Given the description of an element on the screen output the (x, y) to click on. 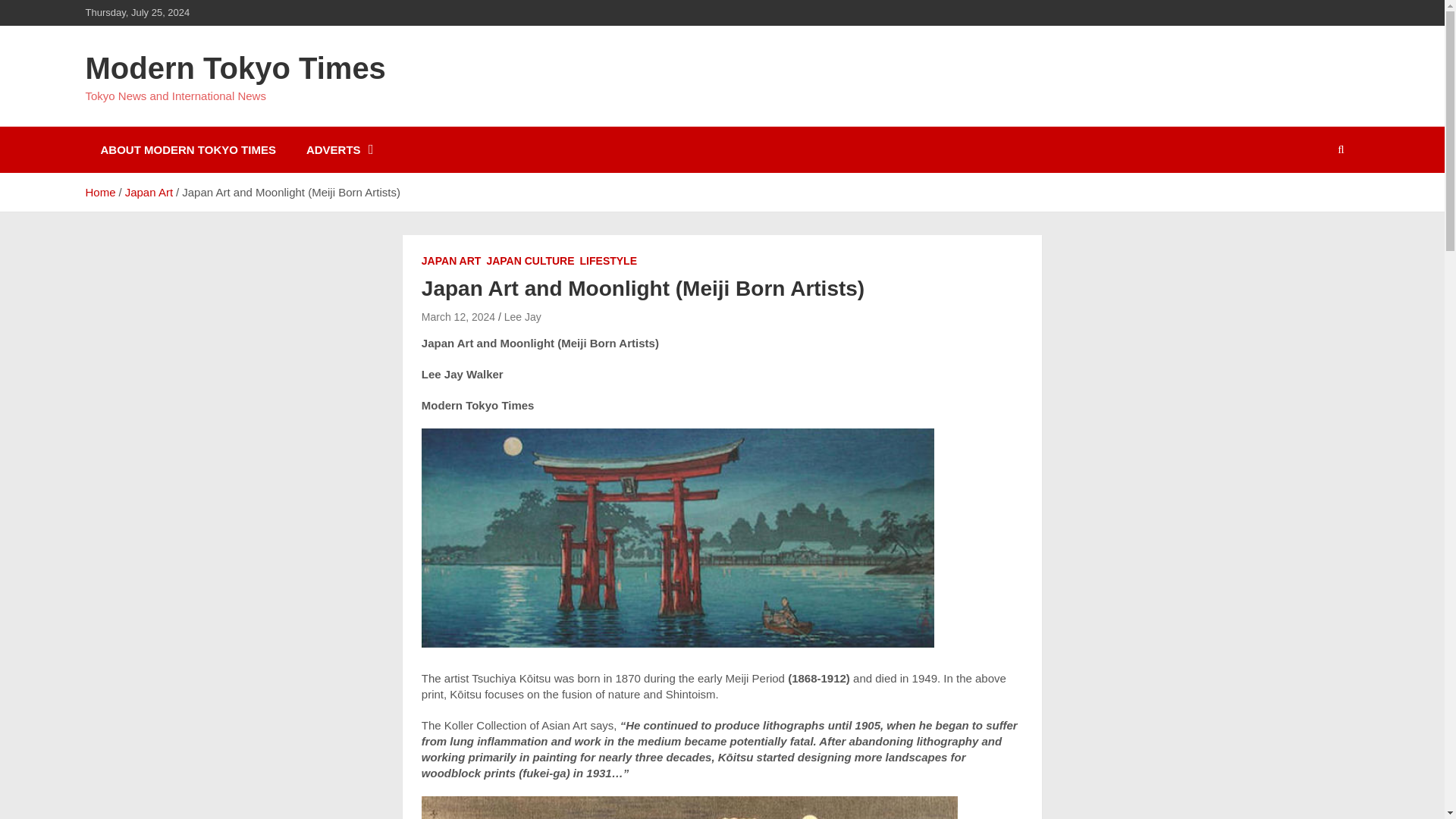
Home (99, 192)
Lee Jay (522, 316)
March 12, 2024 (458, 316)
JAPAN CULTURE (529, 261)
LIFESTYLE (608, 261)
ADVERTS (338, 149)
ABOUT MODERN TOKYO TIMES (186, 149)
Japan Art (149, 192)
Modern Tokyo Times (234, 68)
JAPAN ART (451, 261)
